Given the description of an element on the screen output the (x, y) to click on. 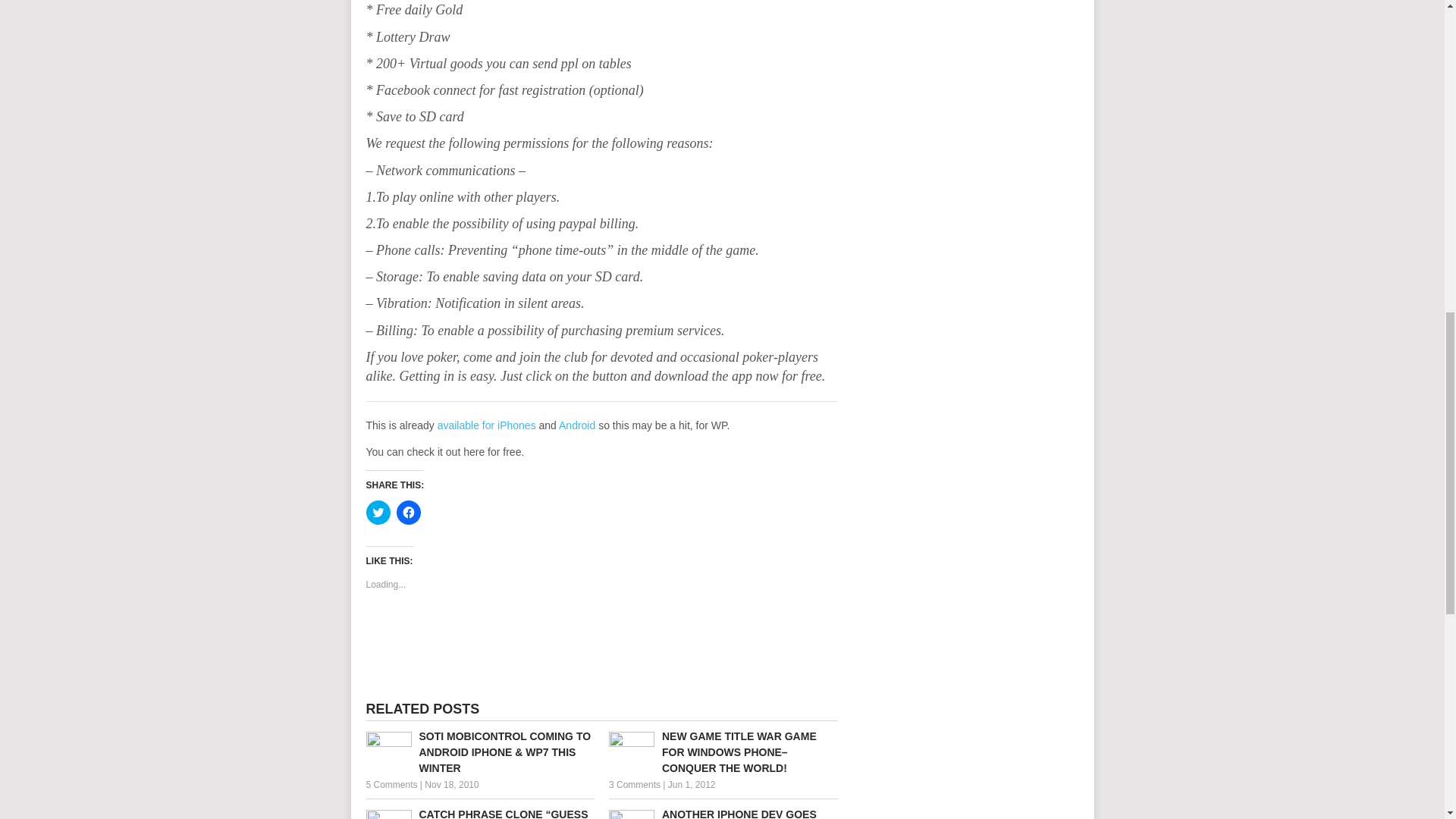
5 Comments (390, 784)
3 Comments (634, 784)
Click to share on Facebook (408, 512)
Click to share on Twitter (377, 512)
available for iPhones (486, 425)
Android (577, 425)
Another iPhone Dev Goes WP7 and Ditches Android (723, 812)
ANOTHER IPHONE DEV GOES WP7 AND DITCHES ANDROID (723, 812)
